Given the description of an element on the screen output the (x, y) to click on. 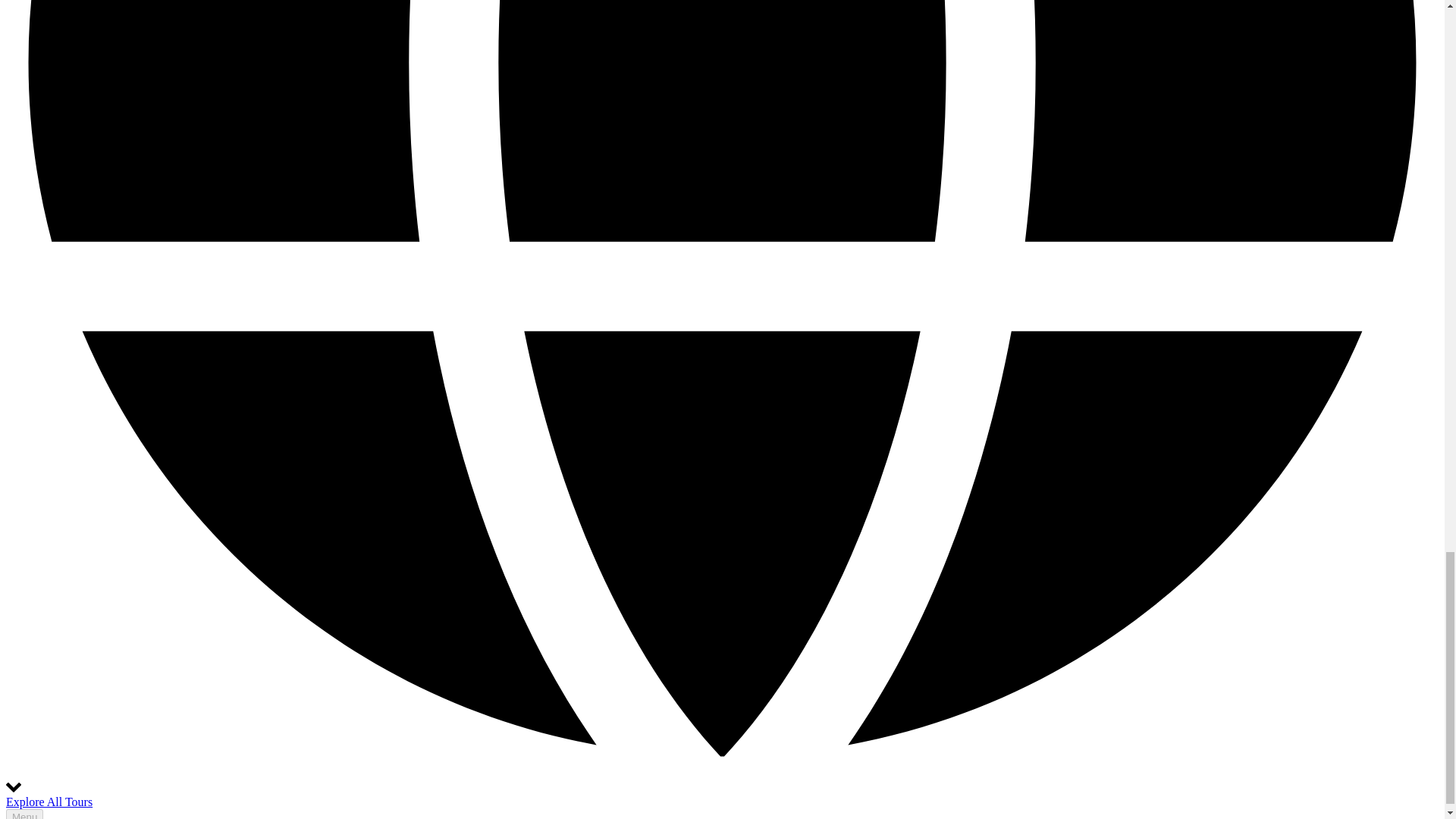
Chevron down (13, 786)
